Given the description of an element on the screen output the (x, y) to click on. 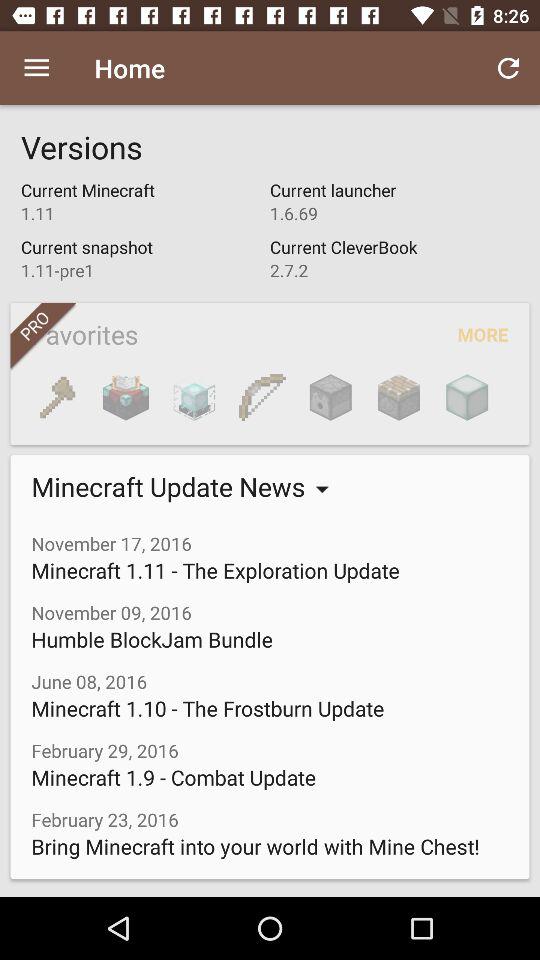
select bow (262, 397)
